Given the description of an element on the screen output the (x, y) to click on. 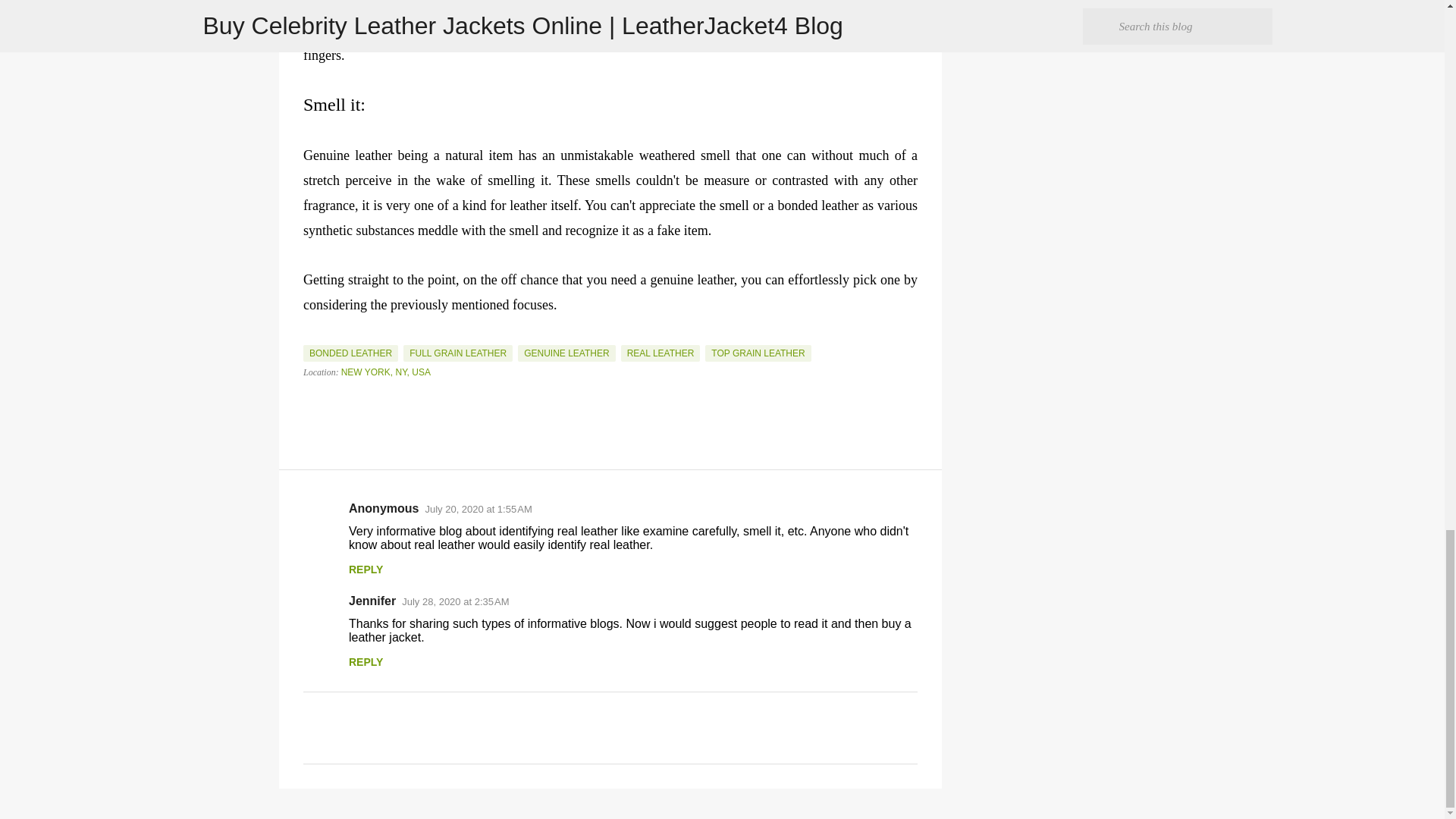
NEW YORK, NY, USA (385, 371)
REPLY (365, 662)
TOP GRAIN LEATHER (757, 352)
REPLY (365, 569)
FULL GRAIN LEATHER (457, 352)
Jennifer (372, 600)
BONDED LEATHER (349, 352)
REAL LEATHER (660, 352)
